Given the description of an element on the screen output the (x, y) to click on. 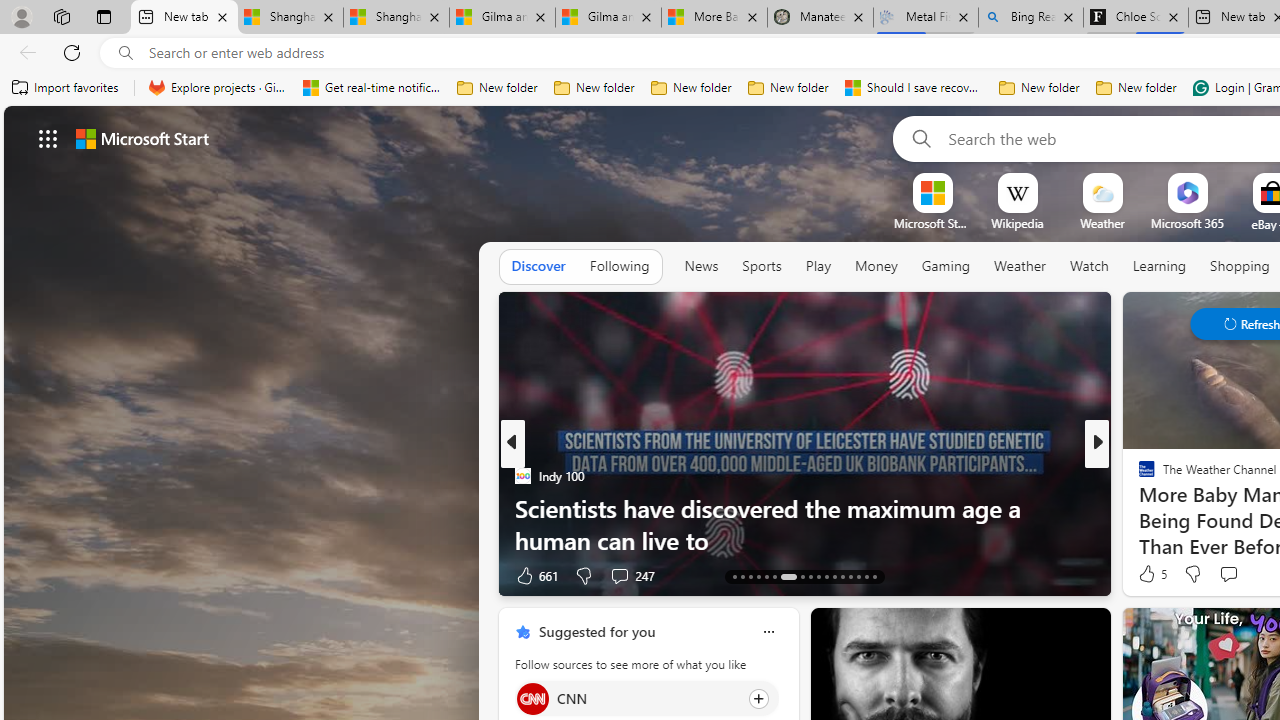
75 Like (1149, 574)
Should I save recovered Word documents? - Microsoft Support (913, 88)
App launcher (47, 138)
View comments 2 Comment (1234, 574)
New folder (1136, 88)
9 Like (1145, 574)
Weather (1019, 267)
AutomationID: tab-24 (833, 576)
Gaming (945, 267)
Gilma and Hector both pose tropical trouble for Hawaii (607, 17)
Wikipedia (1017, 223)
AutomationID: tab-42 (874, 576)
